Given the description of an element on the screen output the (x, y) to click on. 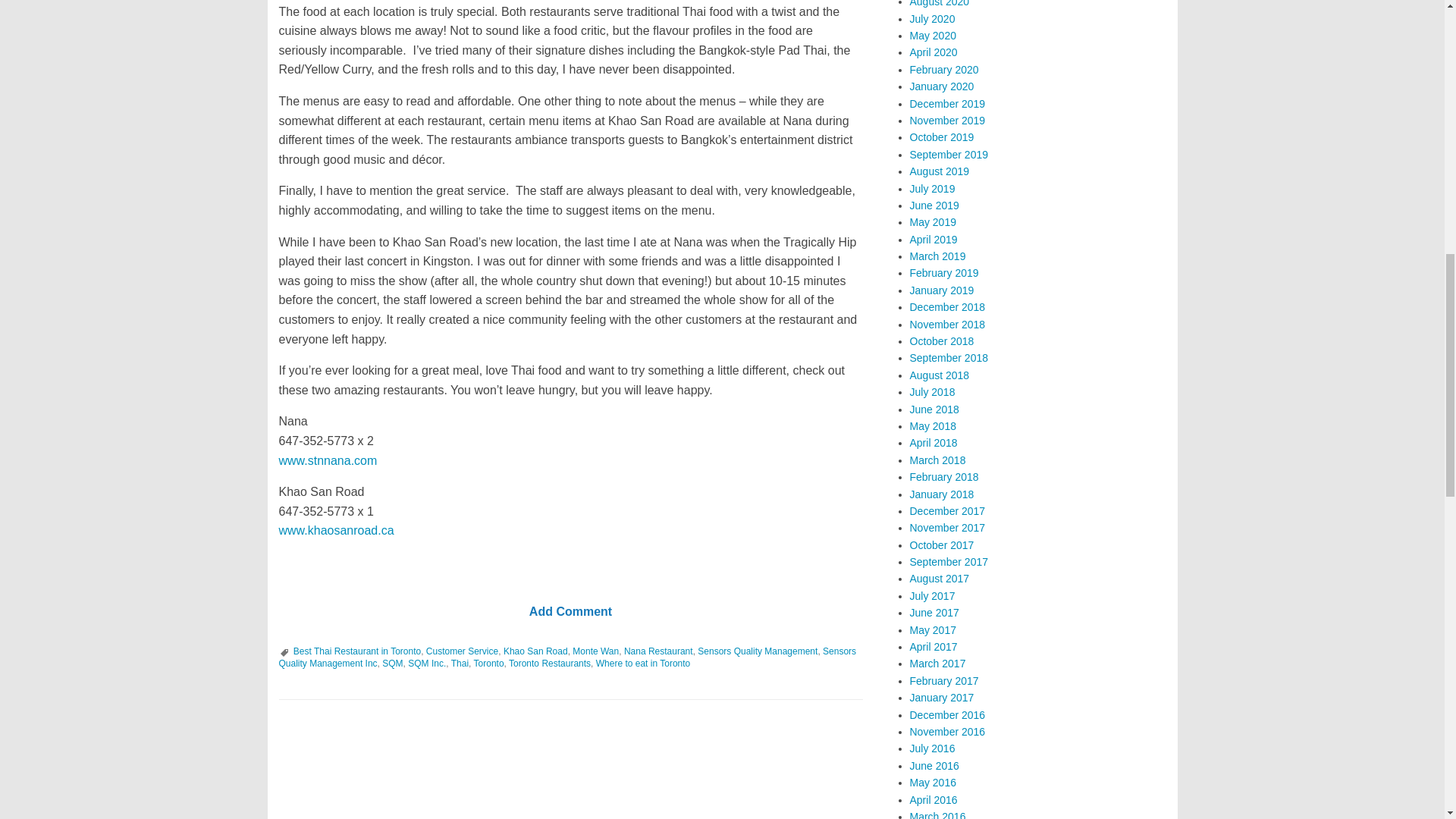
Monte Wan (595, 651)
SQM Inc. (426, 663)
Customer Service (461, 651)
Khao San Road (535, 651)
www.stnnana.com (328, 460)
Where to eat in Toronto (642, 663)
Thai (459, 663)
Add Comment (570, 611)
Toronto Restaurants (549, 663)
Sensors Quality Management Inc (568, 657)
Toronto (488, 663)
SQM (392, 663)
Best Thai Restaurant in Toronto (357, 651)
Sensors Quality Management (756, 651)
Nana Restaurant (658, 651)
